Given the description of an element on the screen output the (x, y) to click on. 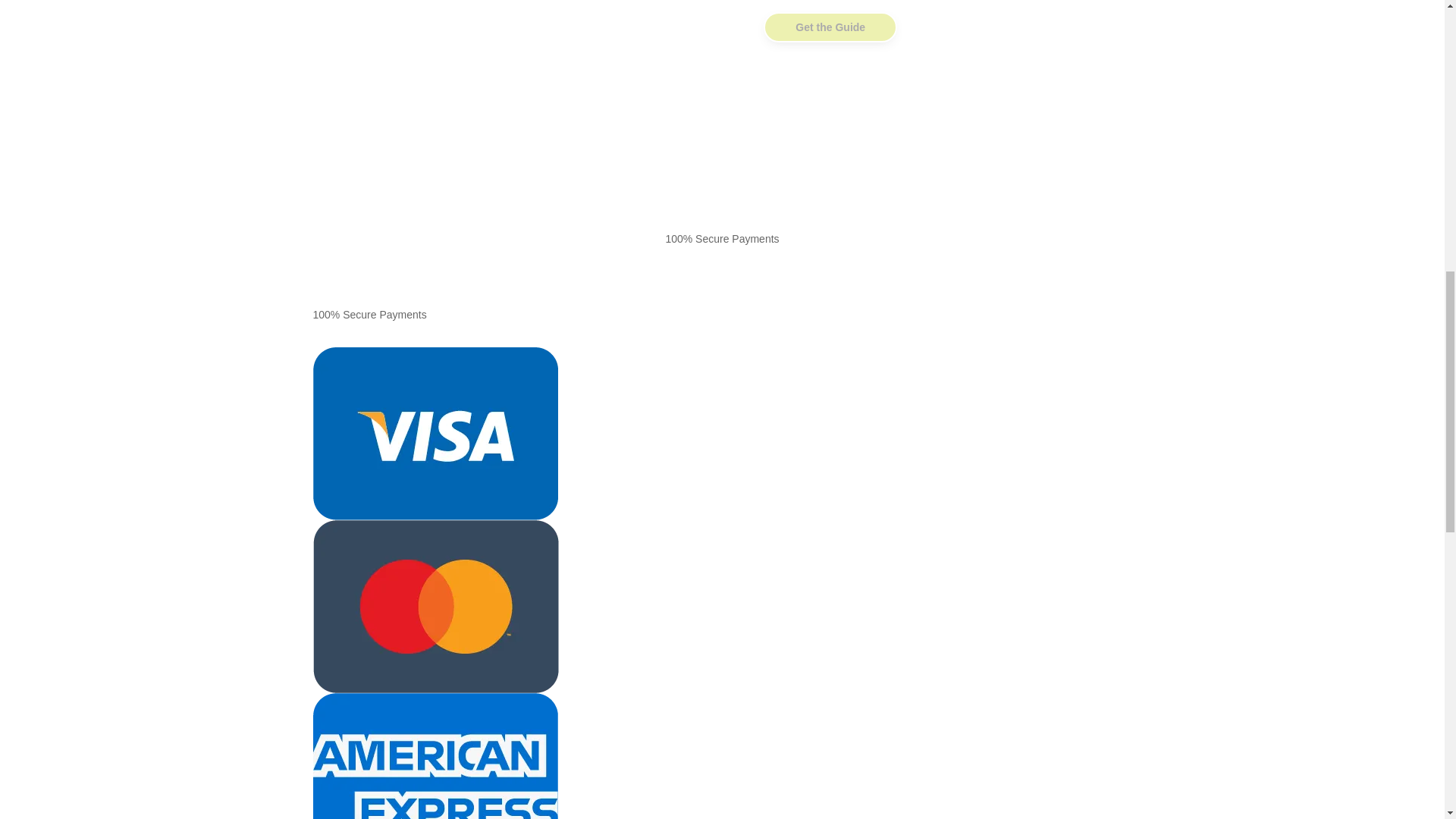
American Express (435, 755)
Visa (435, 433)
Mastercard (435, 606)
